Given the description of an element on the screen output the (x, y) to click on. 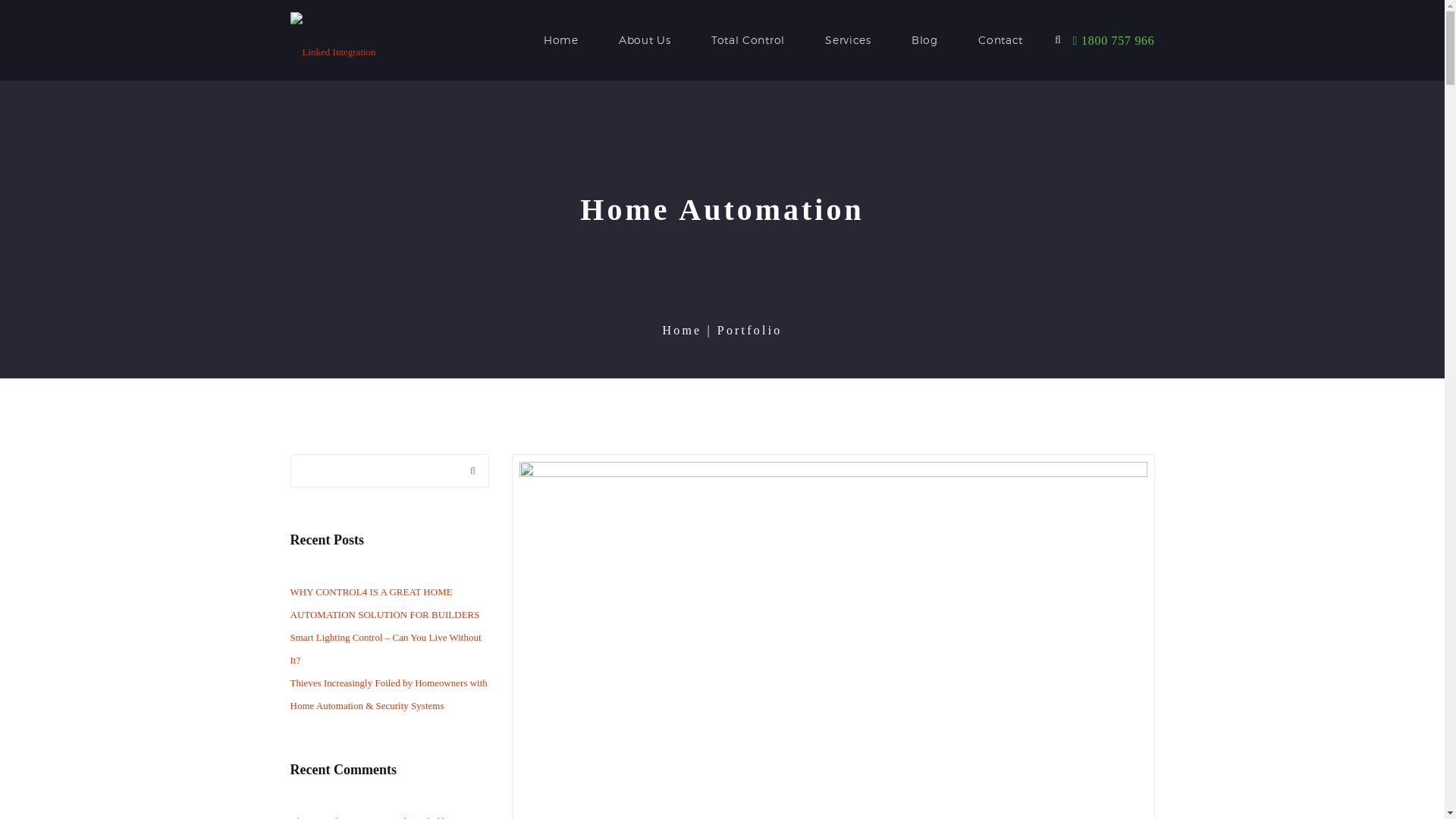
1800 757 966 Element type: text (1113, 40)
About Us Element type: text (644, 39)
Services Element type: text (847, 39)
Home Element type: text (560, 39)
Contact Element type: text (1000, 39)
Home Element type: text (689, 329)
Blog Element type: text (924, 39)
Total Control Element type: text (748, 39)
Search Element type: text (466, 473)
